Given the description of an element on the screen output the (x, y) to click on. 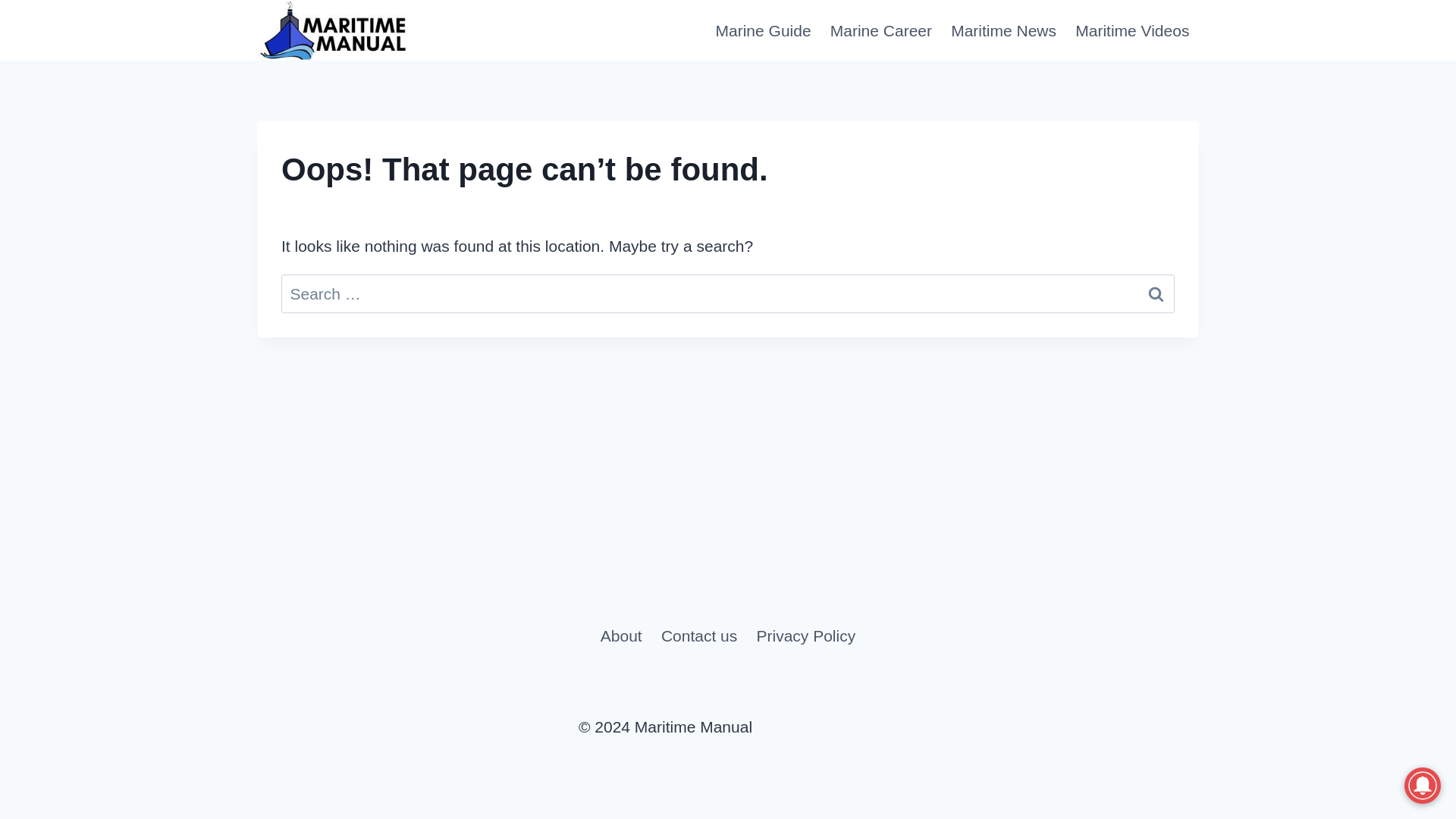
Search (1155, 293)
About (620, 635)
Search (1155, 293)
Marine Guide (763, 30)
Contact us (698, 635)
Search (1155, 293)
Maritime News (1003, 30)
Privacy Policy (805, 635)
Marine Career (880, 30)
Maritime Videos (1131, 30)
